Given the description of an element on the screen output the (x, y) to click on. 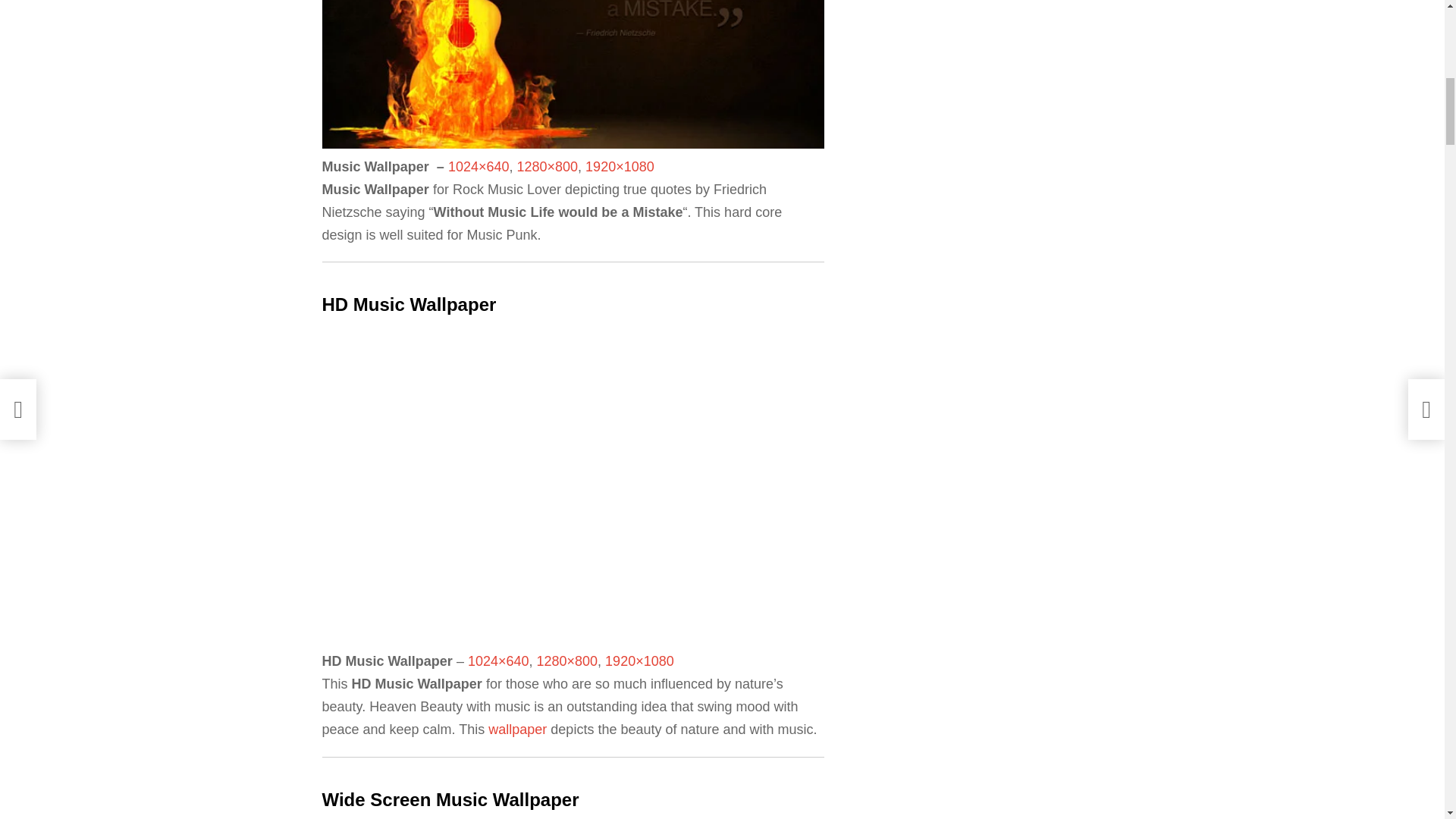
Music Wallpaper (572, 74)
wallpaper (517, 729)
